Given the description of an element on the screen output the (x, y) to click on. 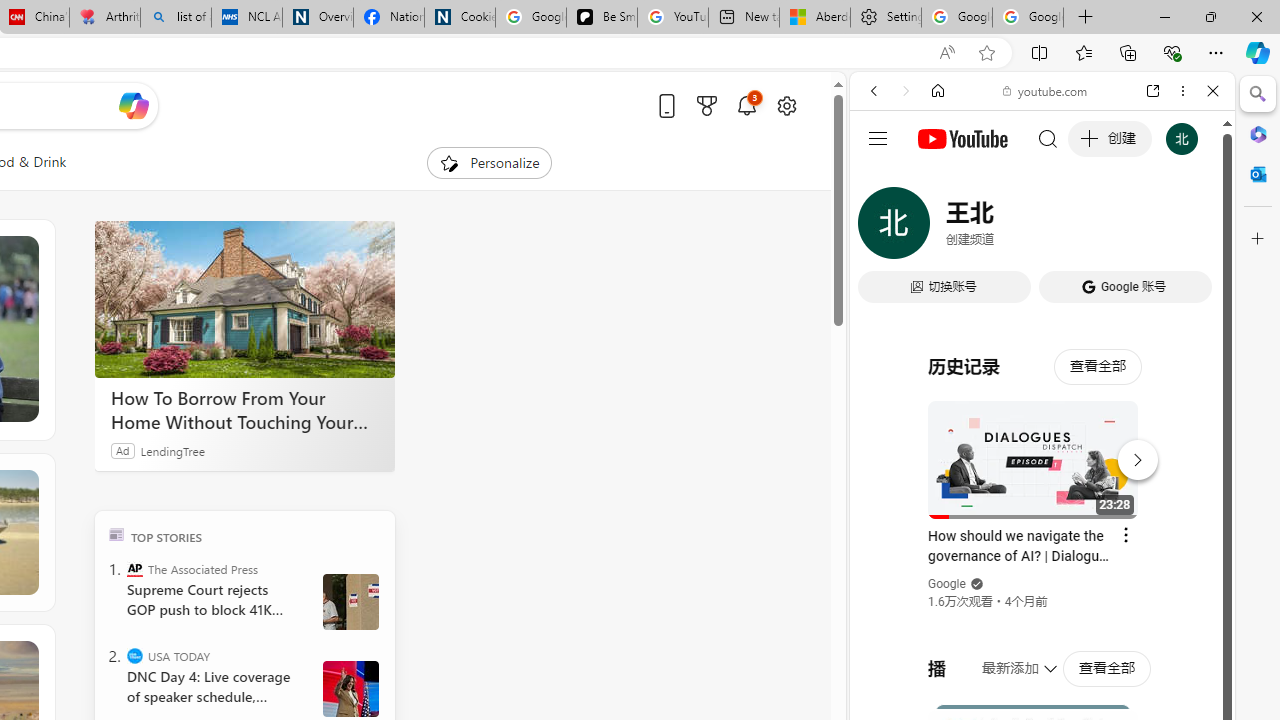
Notifications (746, 105)
Class: b_serphb (1190, 229)
Global web icon (888, 288)
More options (1182, 91)
Microsoft rewards (707, 105)
Preferences (1189, 228)
Search videos from youtube.com (1005, 657)
Cookies (460, 17)
Show More Music (1164, 546)
youtube.com (1046, 90)
Google (947, 584)
Arthritis: Ask Health Professionals (104, 17)
